Given the description of an element on the screen output the (x, y) to click on. 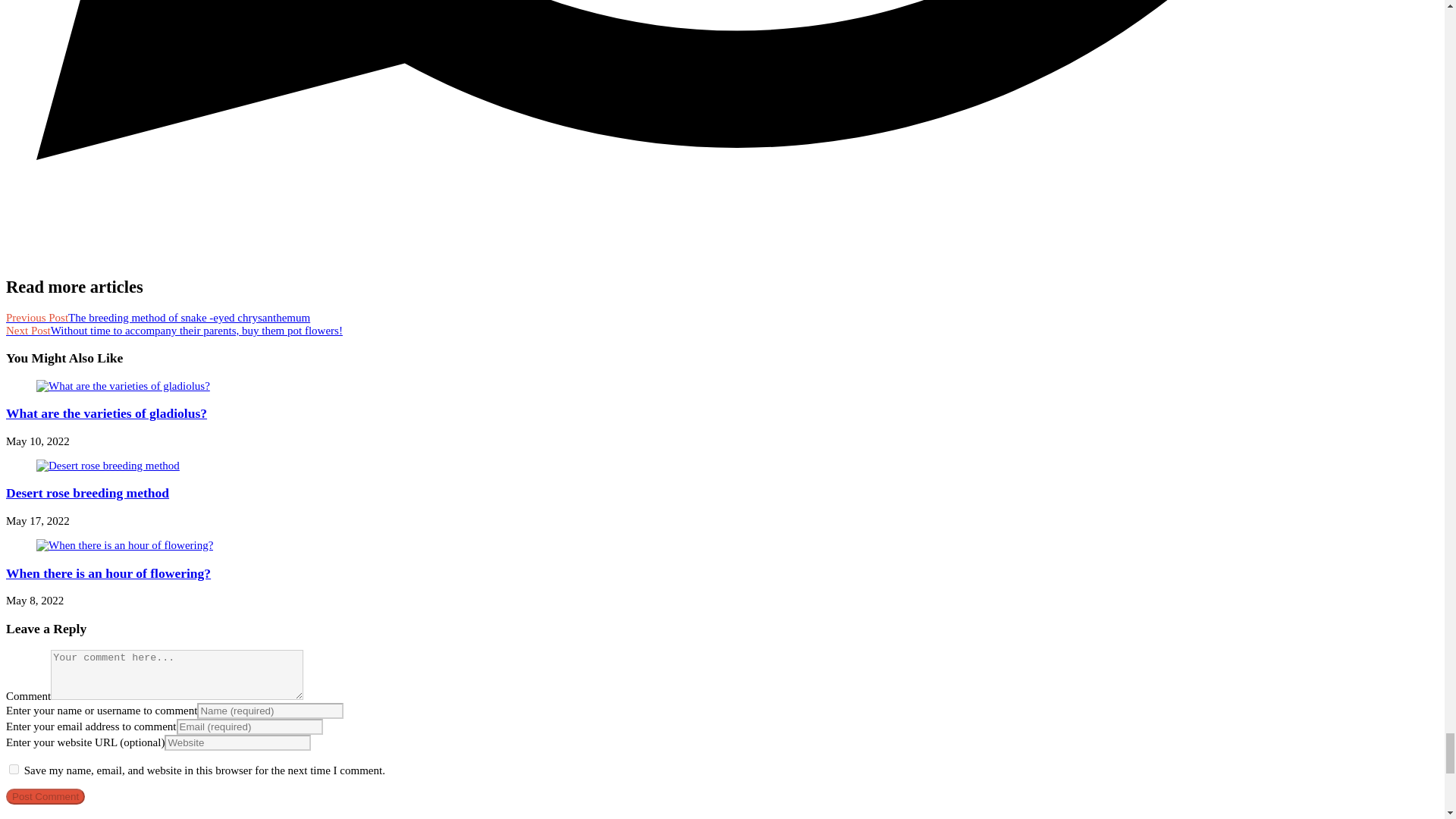
Post Comment (44, 796)
Desert rose breeding method (86, 492)
yes (13, 768)
What are the varieties of gladiolus? (105, 412)
